Given the description of an element on the screen output the (x, y) to click on. 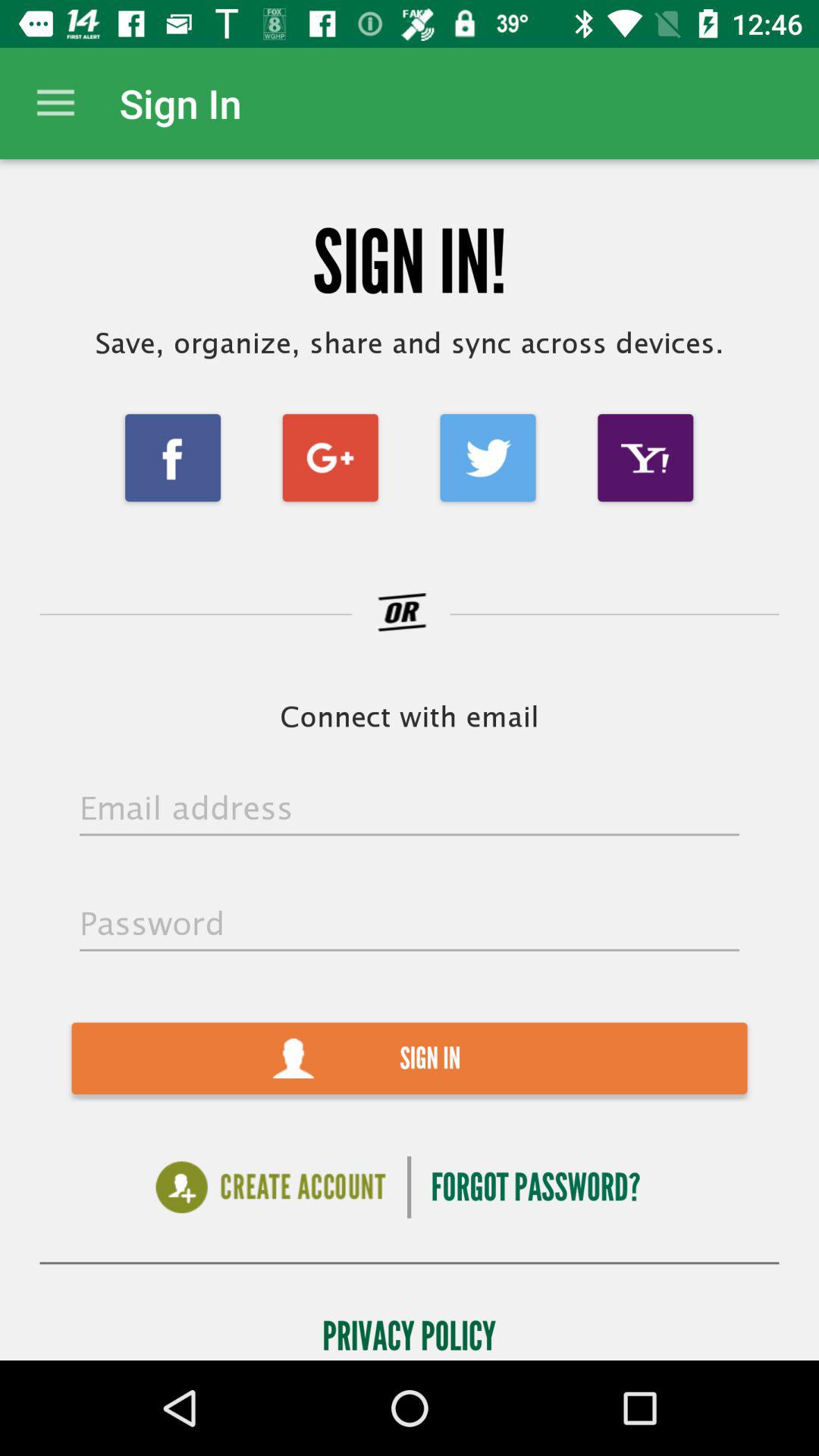
press the icon at the bottom left corner (270, 1187)
